Given the description of an element on the screen output the (x, y) to click on. 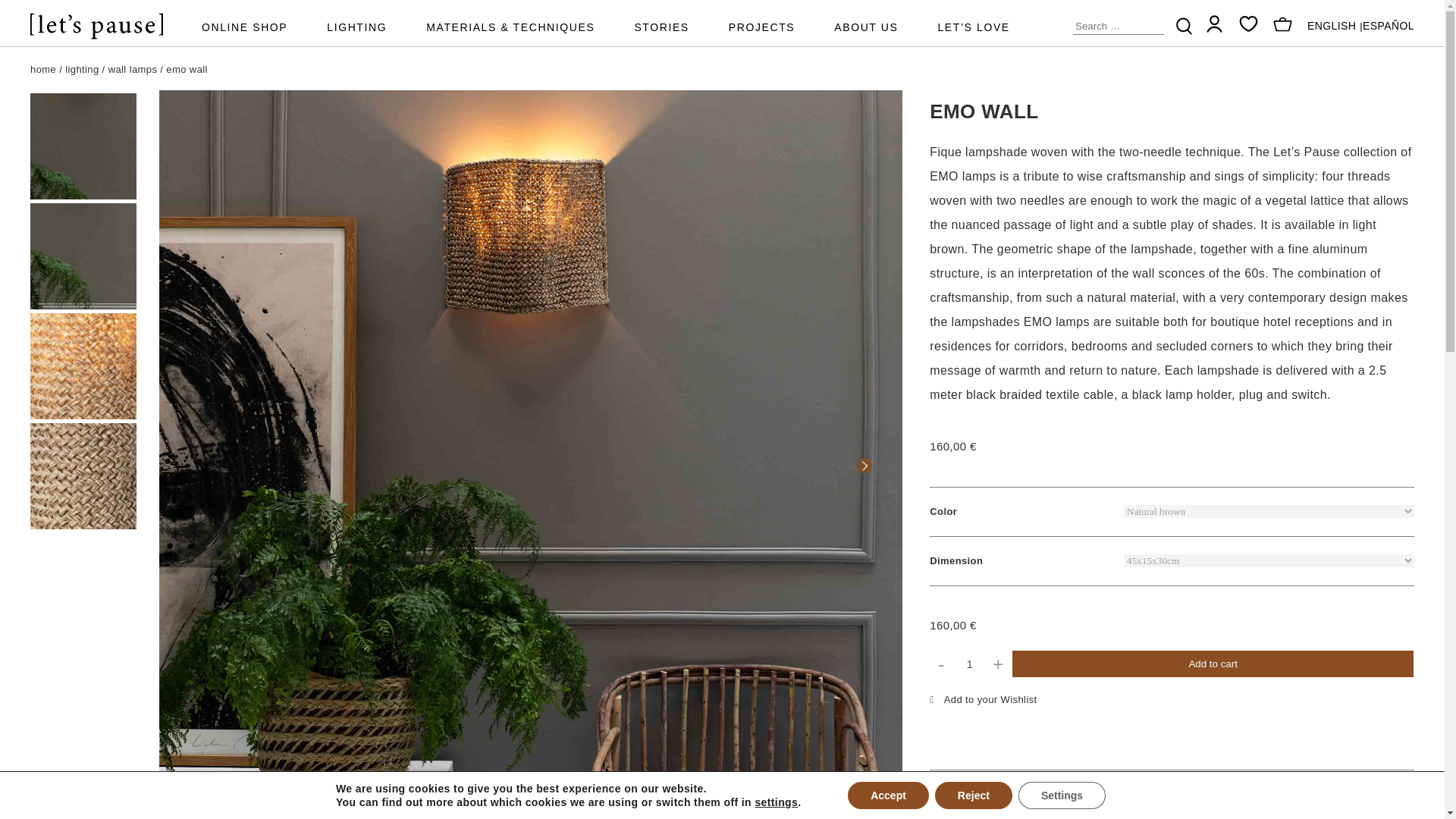
Qty (969, 663)
ONLINE SHOP (244, 28)
English (1331, 26)
Search (1183, 26)
Search (1183, 26)
1 (969, 663)
Search for: (1118, 26)
